Given the description of an element on the screen output the (x, y) to click on. 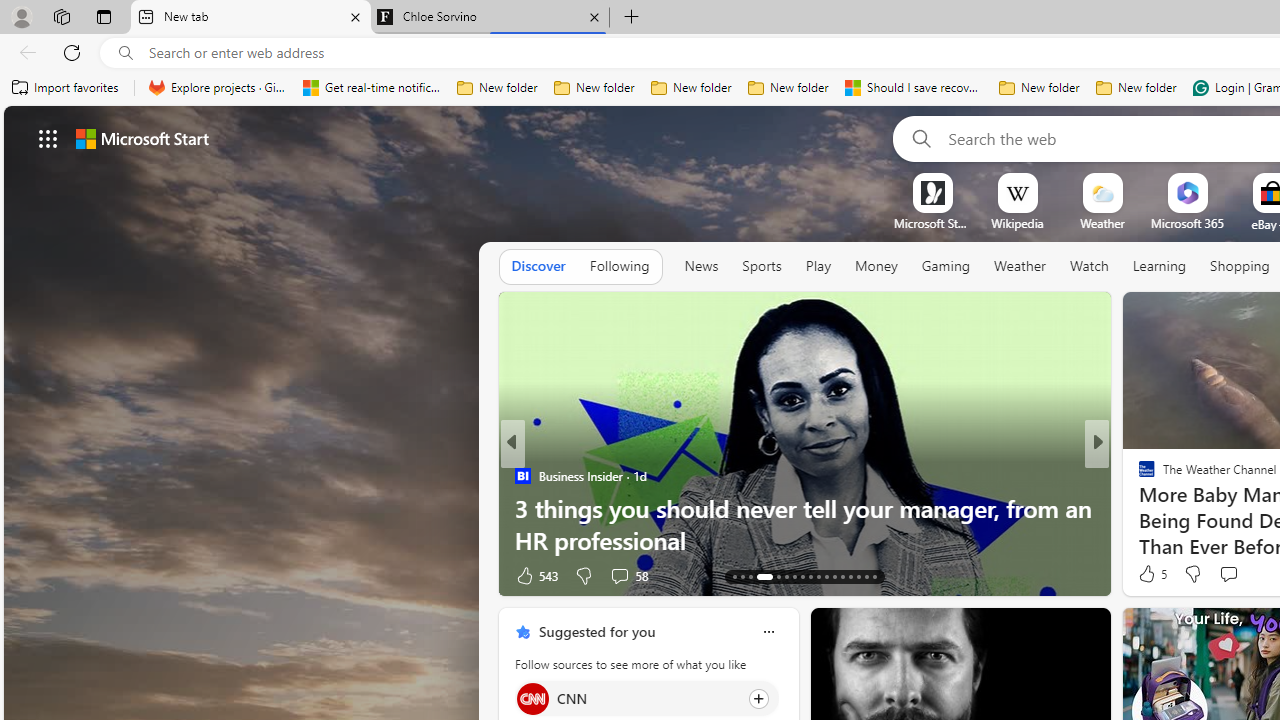
AutomationID: tab-23 (825, 576)
ETNT Mind+Body (1138, 475)
AutomationID: tab-25 (842, 576)
View comments 5 Comment (1241, 574)
View comments 42 Comment (11, 575)
AutomationID: tab-17 (772, 576)
View comments 247 Comment (1247, 574)
17 Like (1149, 574)
CNBC (1138, 475)
The Verge (1138, 475)
AutomationID: tab-41 (865, 576)
